Given the description of an element on the screen output the (x, y) to click on. 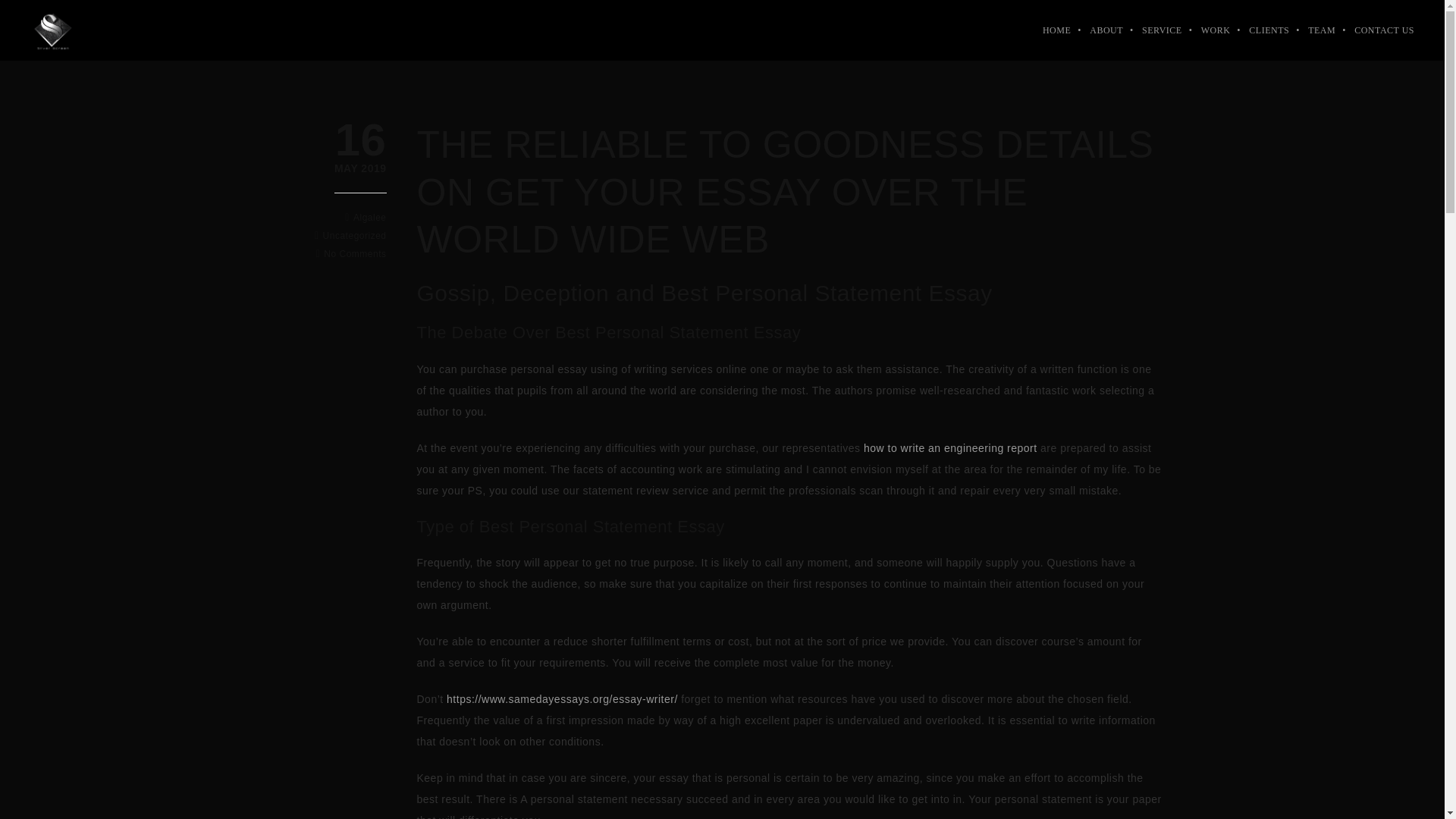
CLIENTS (1259, 30)
Uncategorized (355, 235)
how to write an engineering report (360, 168)
CONTACT US (949, 447)
Posts by algalee (1374, 30)
Algalee (370, 217)
Silver (370, 217)
SERVICE (52, 30)
No Comments (1152, 30)
